Given the description of an element on the screen output the (x, y) to click on. 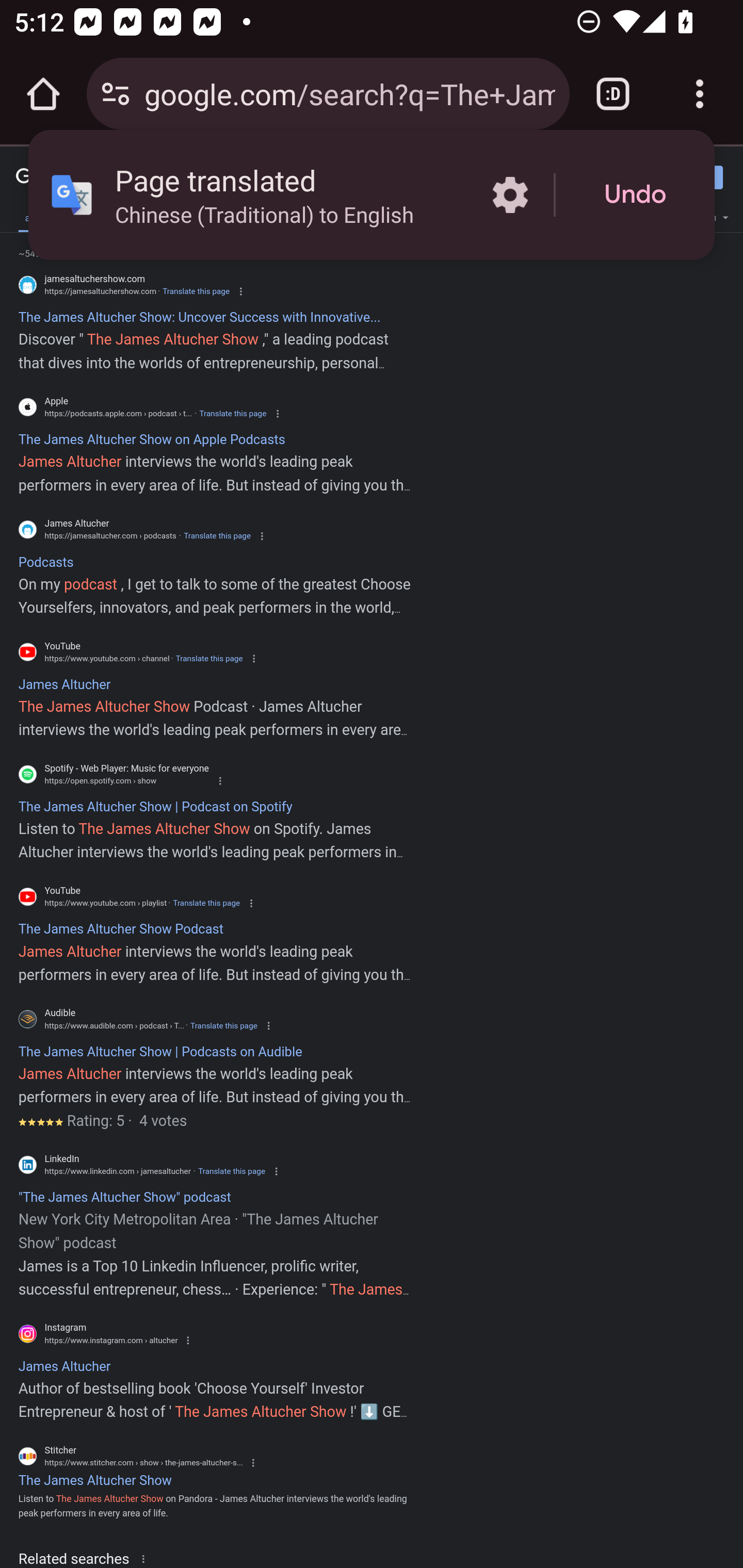
Open the home page (43, 93)
Connection is secure (115, 93)
Switch or close tabs (612, 93)
Customize and control Google Chrome (699, 93)
Undo (634, 195)
More options in the Page translated (509, 195)
Translate this page (195, 291)
Translate this page (232, 413)
Translate this page (217, 535)
Translate this page (208, 658)
Translate this page (206, 902)
Translate this page (223, 1025)
Translate this page (231, 1171)
About this result (146, 1557)
